Given the description of an element on the screen output the (x, y) to click on. 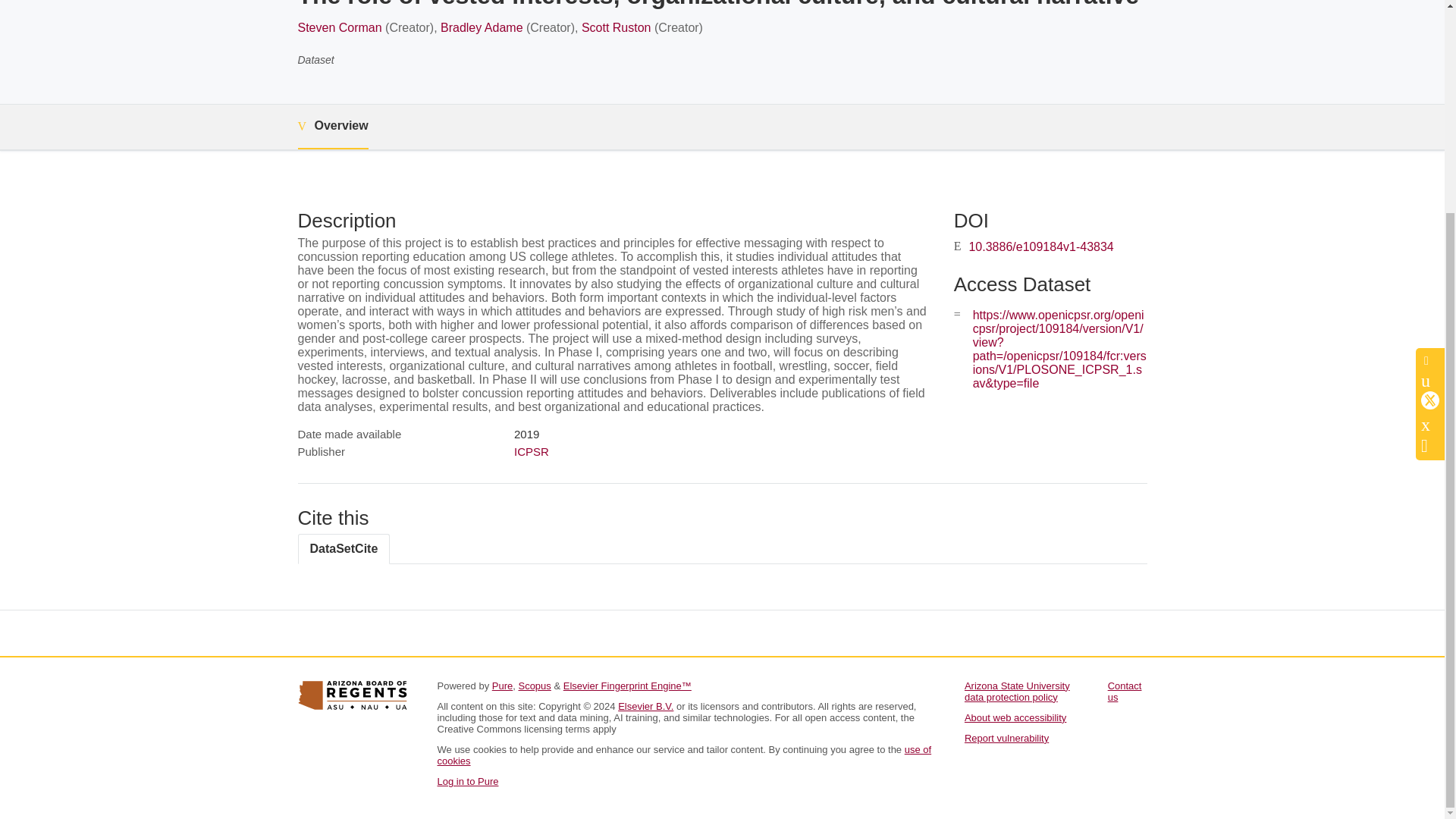
About web accessibility (1014, 717)
Pure (502, 685)
Log in to Pure (466, 781)
Report vulnerability (1005, 737)
Bradley Adame (481, 27)
Overview (332, 126)
Arizona State University data protection policy (1016, 691)
Elsevier B.V. (644, 706)
use of cookies (683, 754)
Contact us (1124, 691)
ICPSR (530, 451)
Steven Corman (339, 27)
Scopus (534, 685)
Scott Ruston (615, 27)
